Given the description of an element on the screen output the (x, y) to click on. 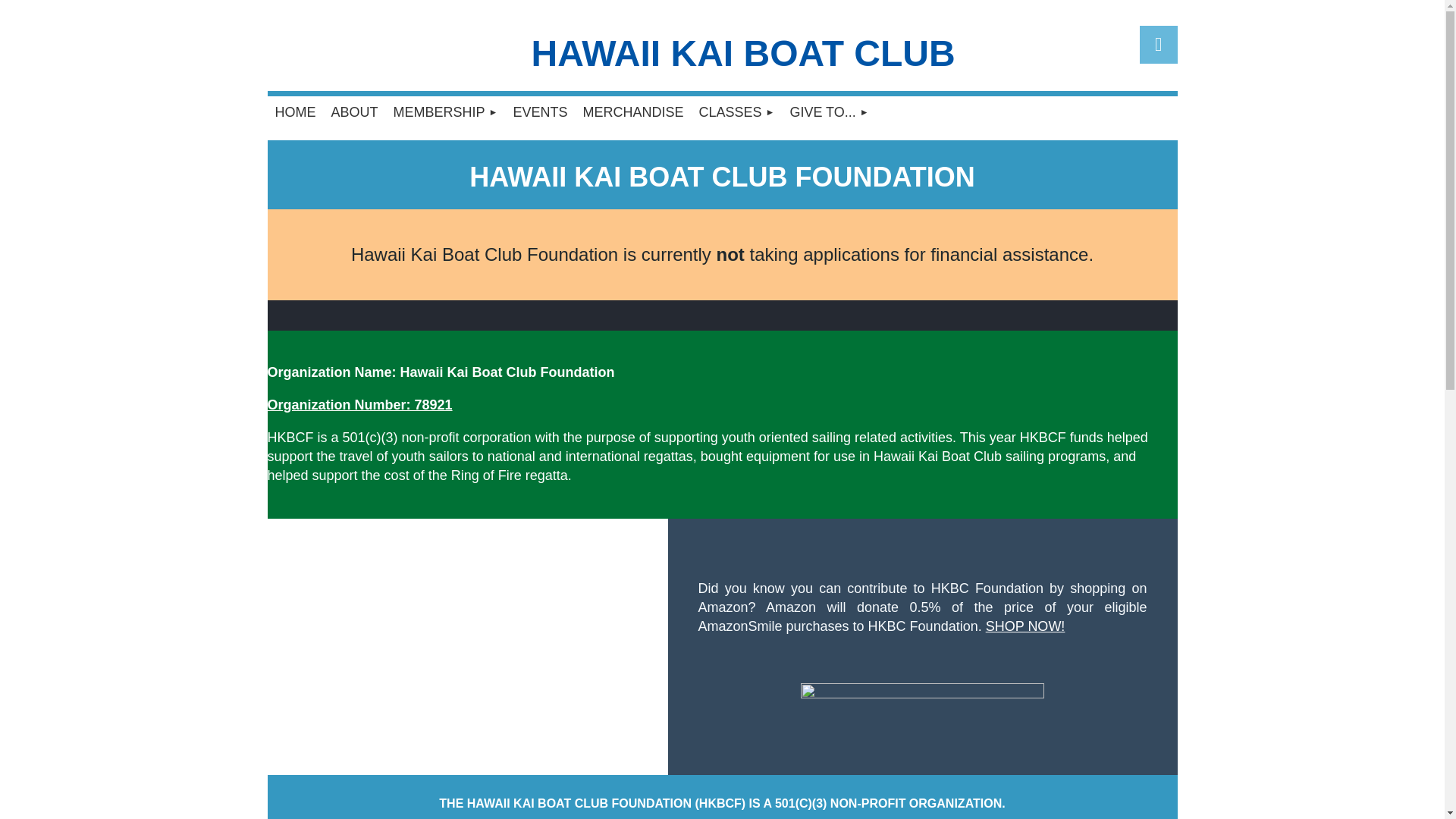
SHOP NOW! (1025, 626)
EVENTS (540, 110)
MEMBERSHIP (445, 110)
Membership (445, 110)
Log in (1157, 44)
GIVE TO... (828, 110)
Events (540, 110)
CLASSES (735, 110)
Home (294, 110)
About (354, 110)
